Given the description of an element on the screen output the (x, y) to click on. 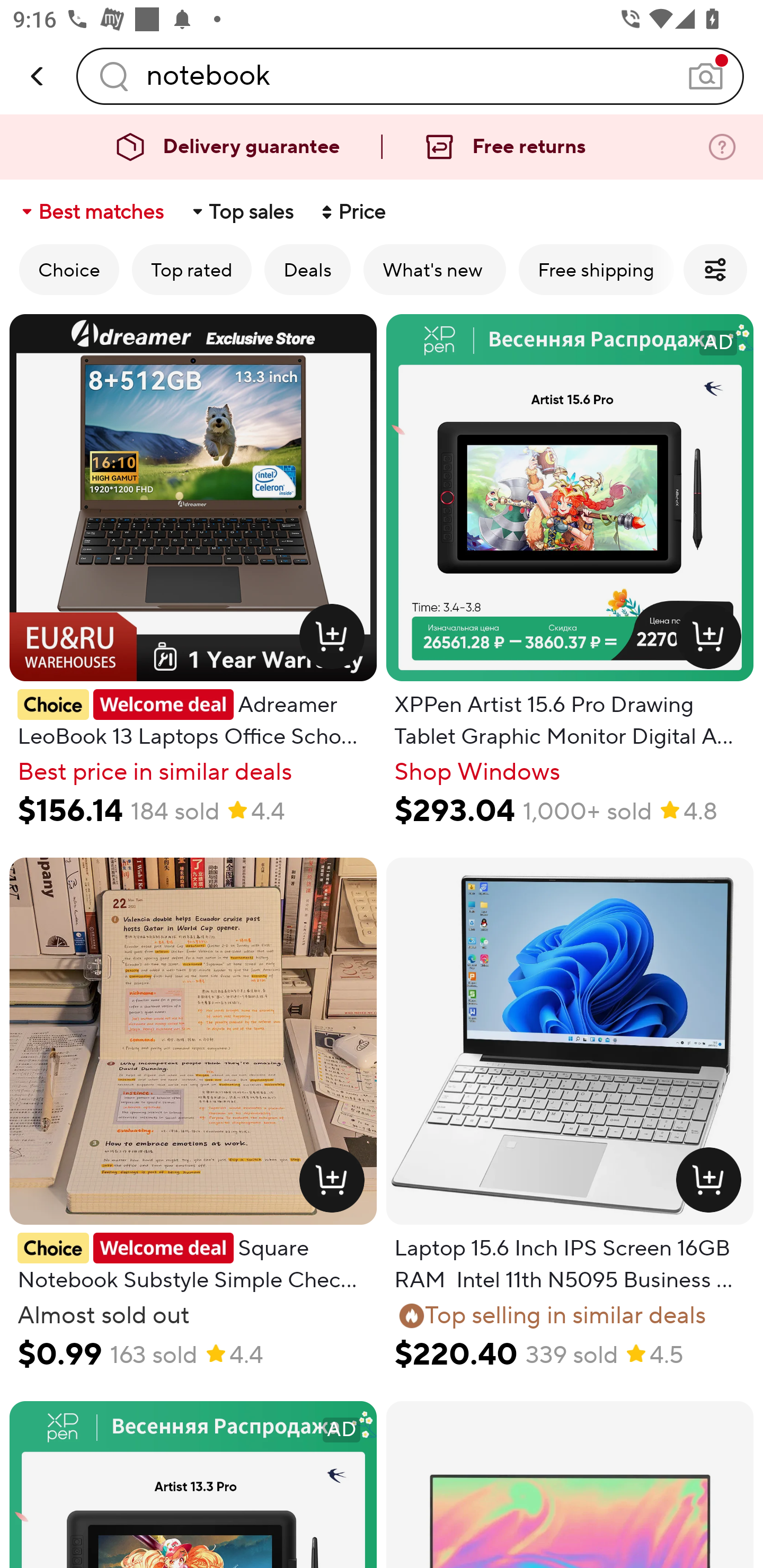
back (38, 75)
notebook Search query (409, 76)
notebook Search query (409, 76)
Best matches (91, 212)
Top sales (241, 212)
Price (352, 212)
Choice (69, 269)
Top rated (191, 269)
Deals (307, 269)
What's new  (434, 269)
Free shipping (595, 269)
